Given the description of an element on the screen output the (x, y) to click on. 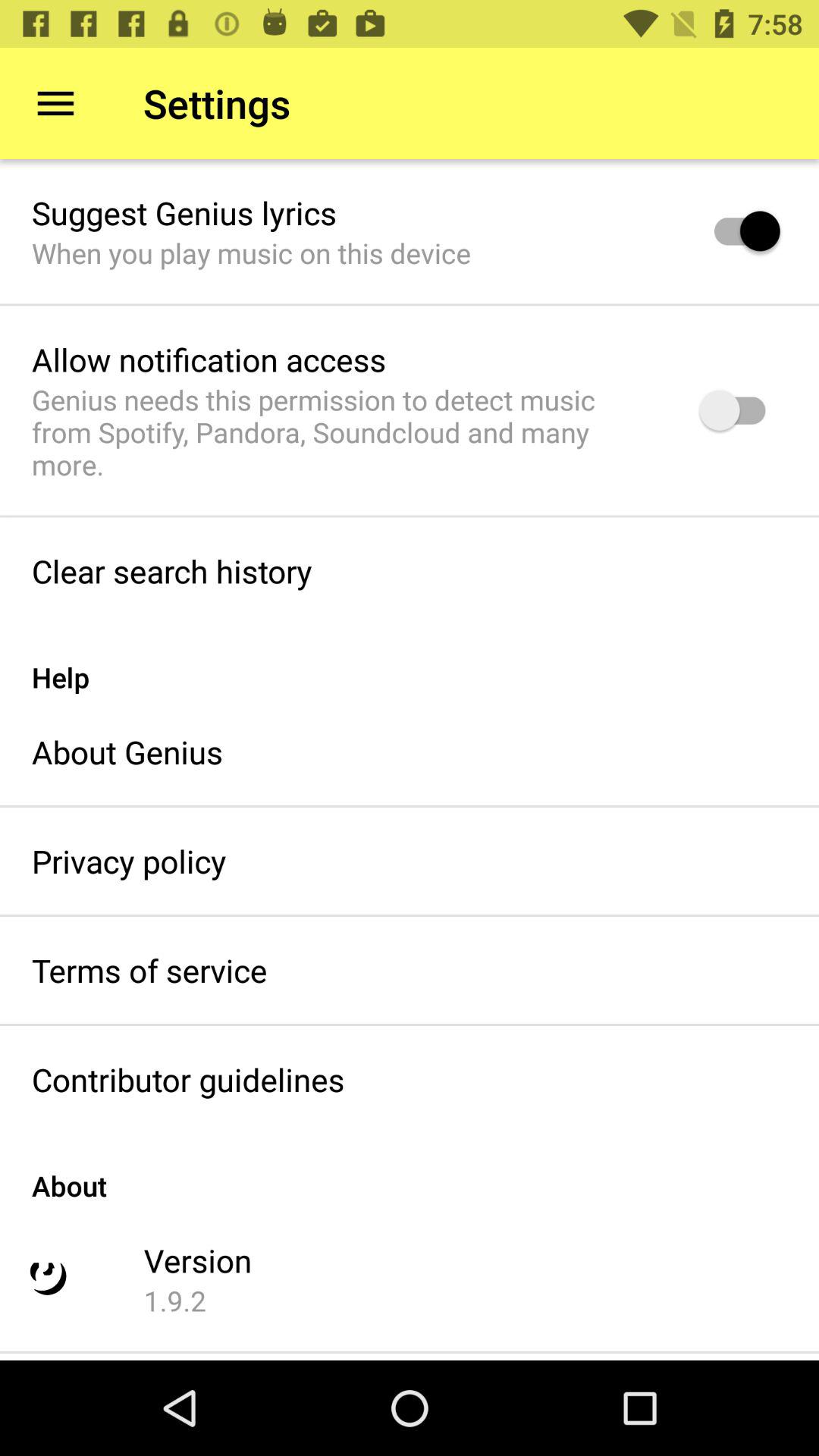
tap the 1.9.2 icon (174, 1300)
